Given the description of an element on the screen output the (x, y) to click on. 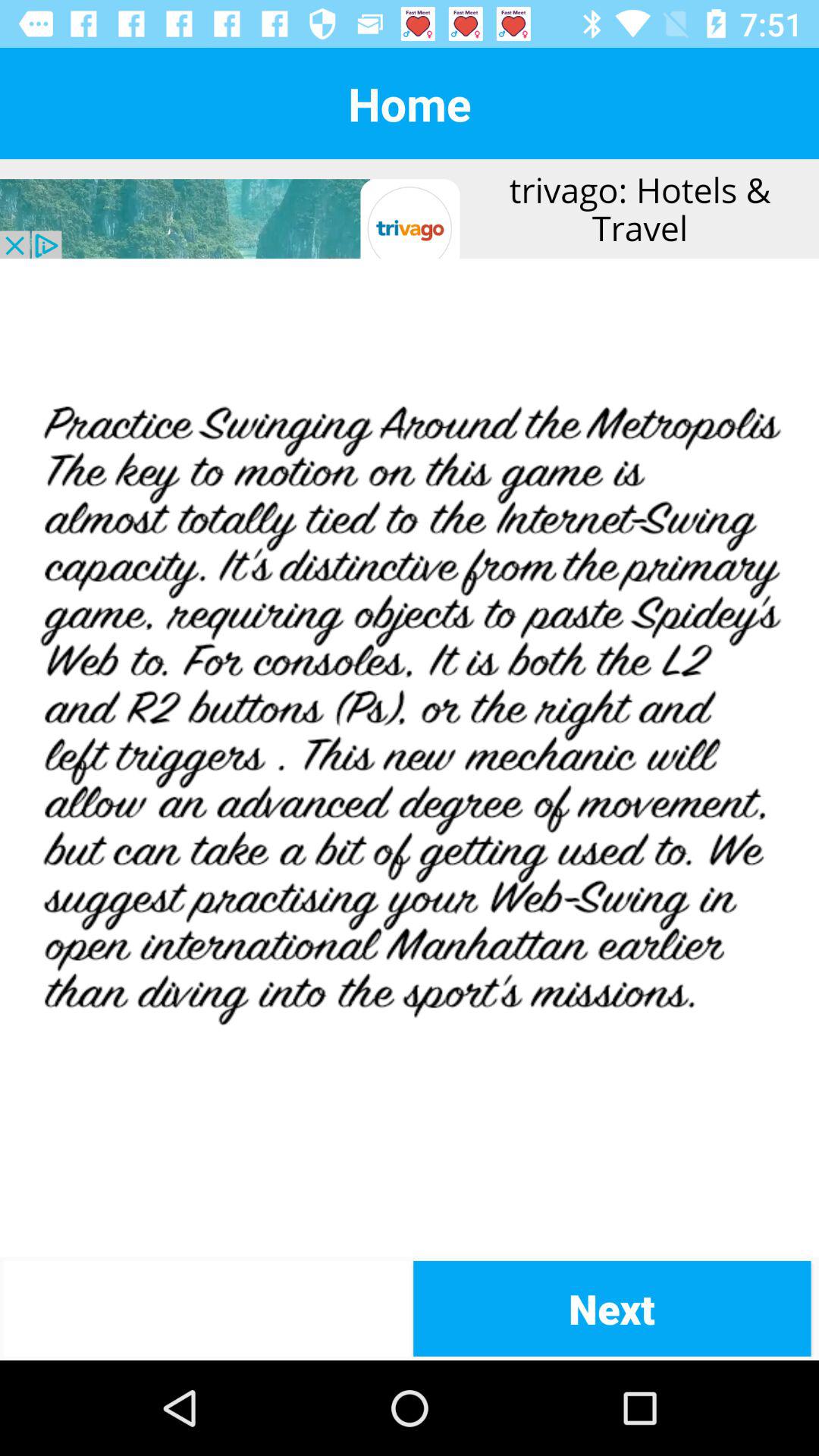
select the add (409, 757)
